Given the description of an element on the screen output the (x, y) to click on. 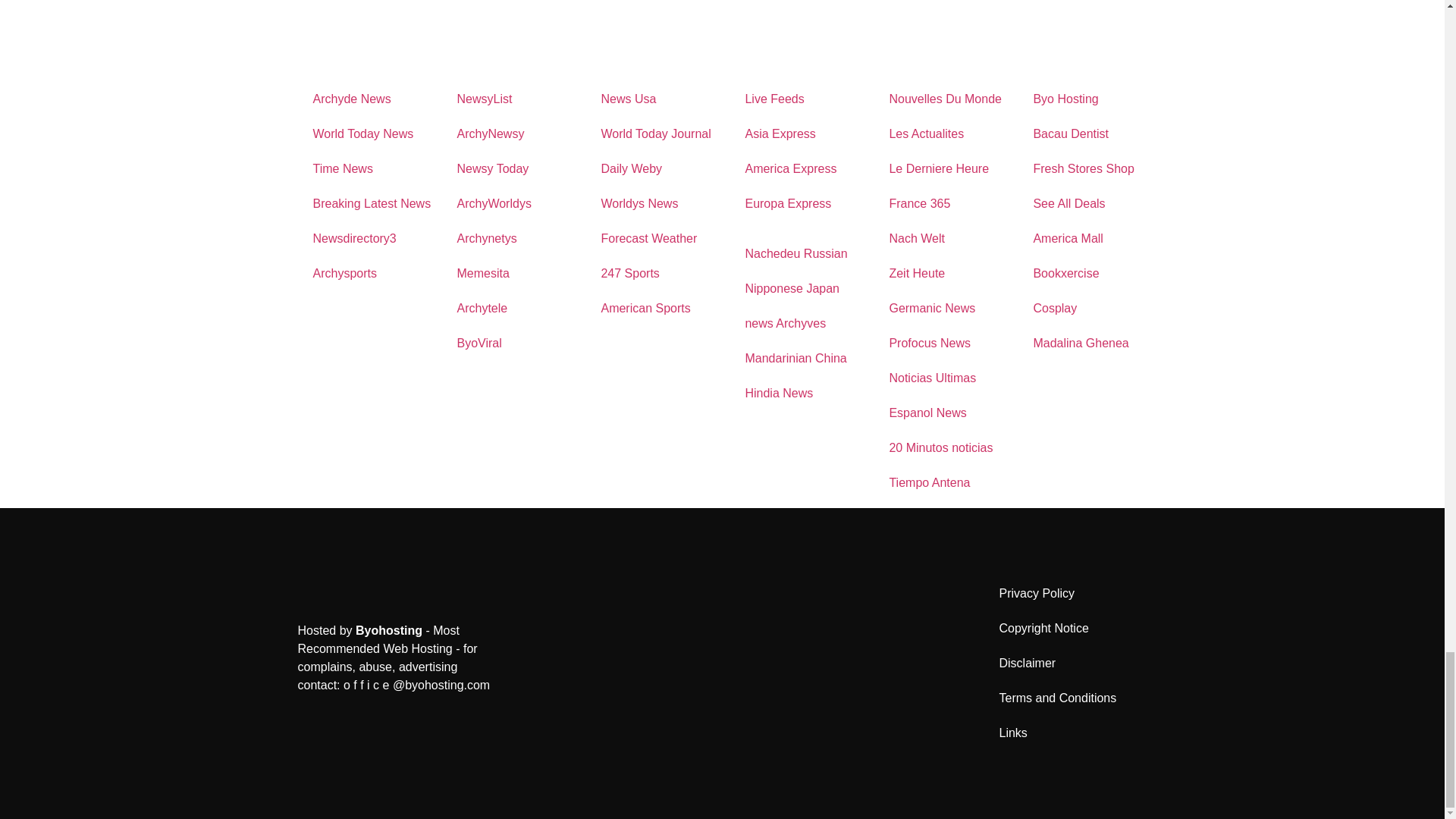
Most Recommended WebHosting (388, 630)
